Given the description of an element on the screen output the (x, y) to click on. 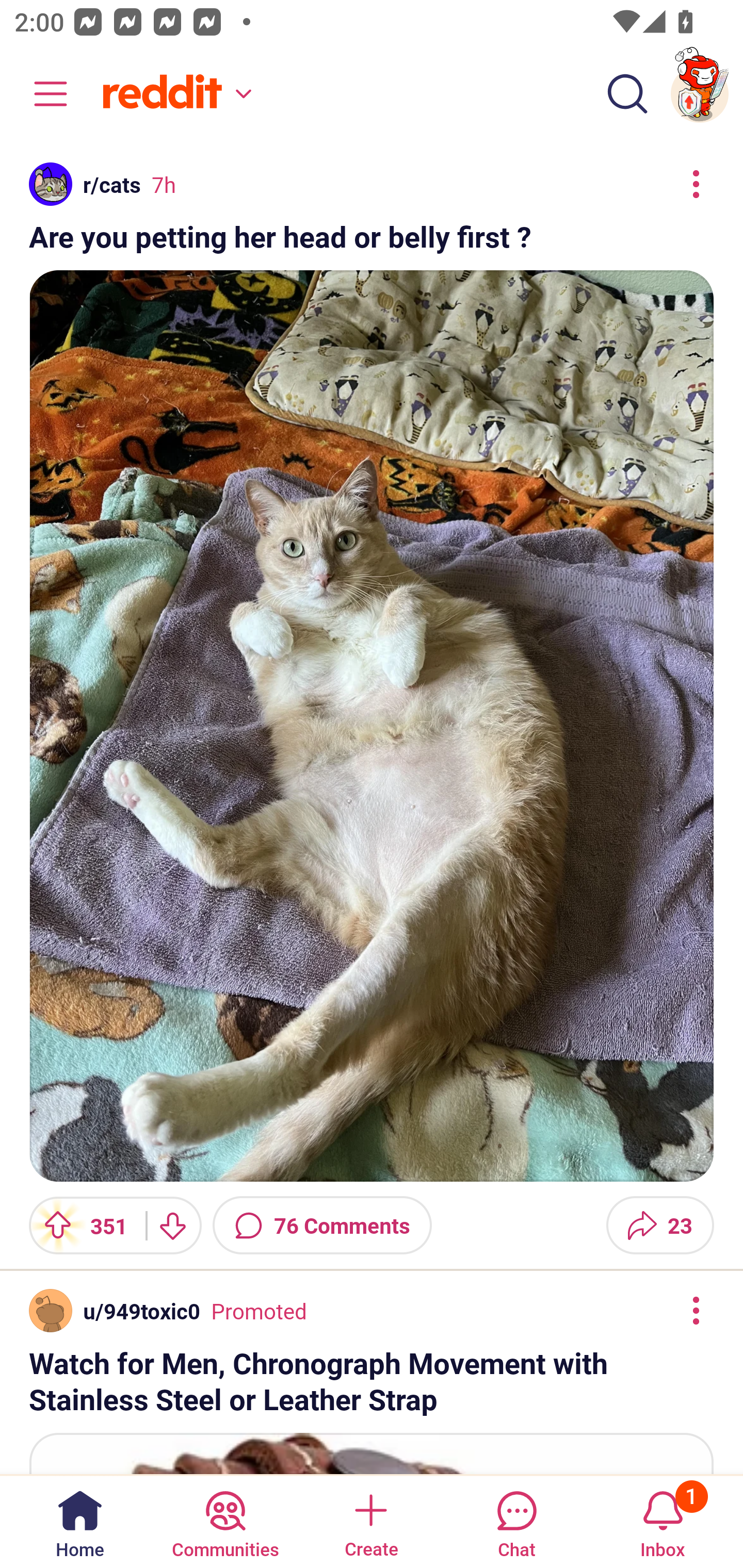
Search (626, 93)
TestAppium002 account (699, 93)
Community menu (41, 94)
Home feed (173, 94)
Home (80, 1520)
Communities (225, 1520)
Create a post Create (370, 1520)
Chat (516, 1520)
Inbox, has 1 notification 1 Inbox (662, 1520)
